Given the description of an element on the screen output the (x, y) to click on. 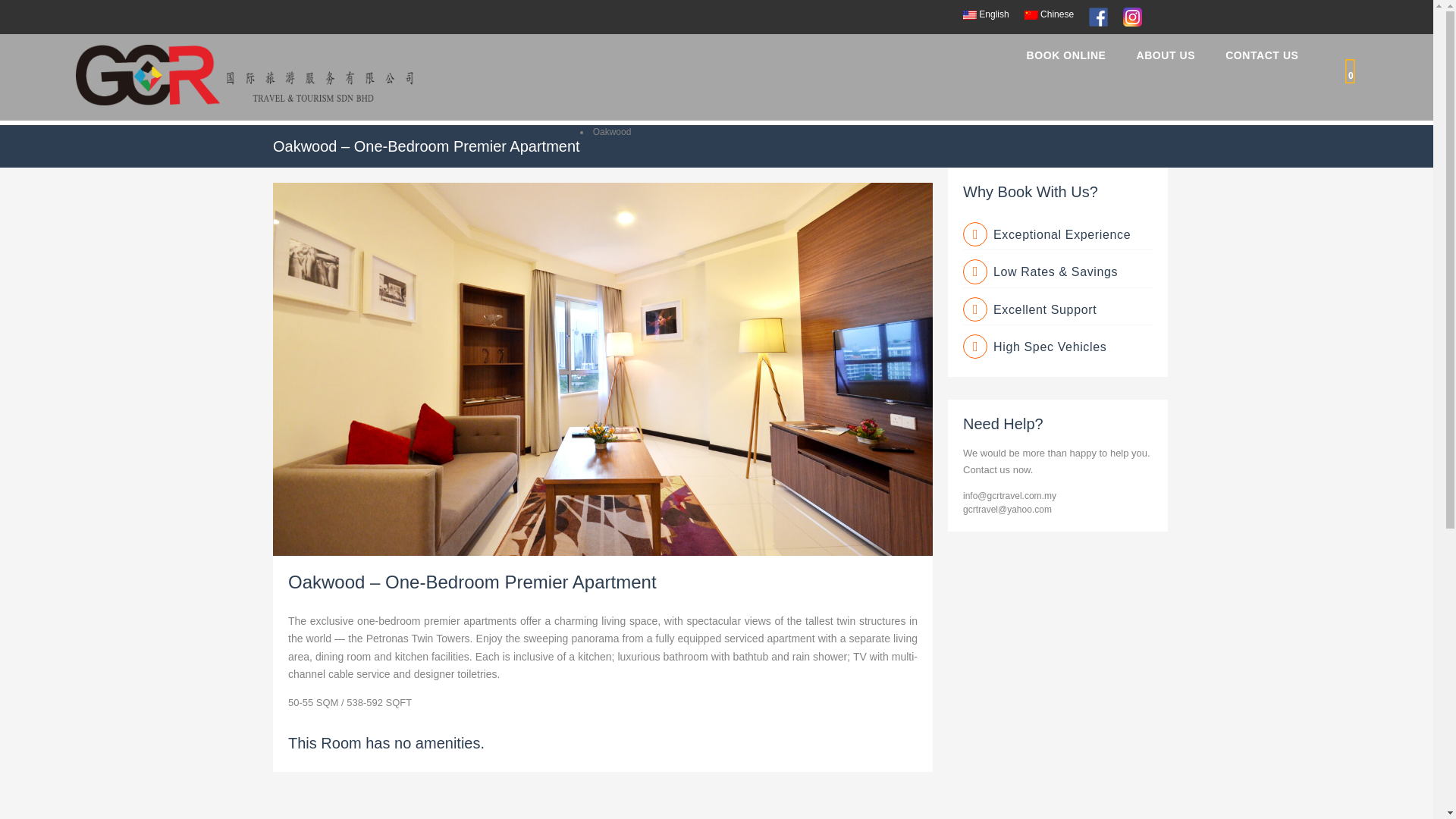
English (985, 14)
CONTACT US (1261, 52)
BOOK ONLINE (1066, 52)
English (969, 14)
Chinese (1031, 14)
Oakwood (611, 131)
Chinese (1049, 14)
ABOUT US (1166, 52)
